Given the description of an element on the screen output the (x, y) to click on. 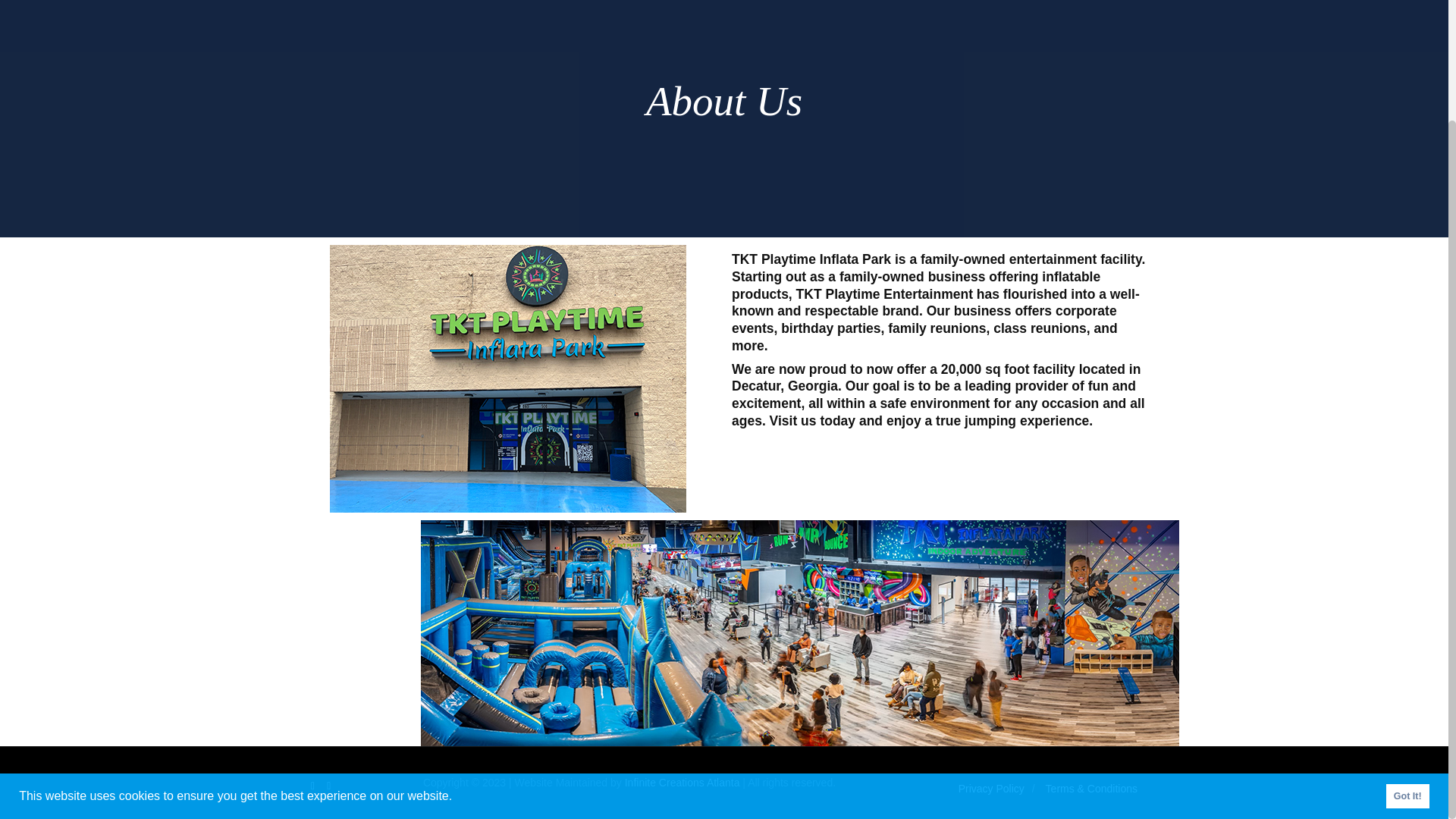
Privacy Policy (991, 787)
Infinite Creations Atlanta (681, 782)
Got It! (1407, 654)
